Given the description of an element on the screen output the (x, y) to click on. 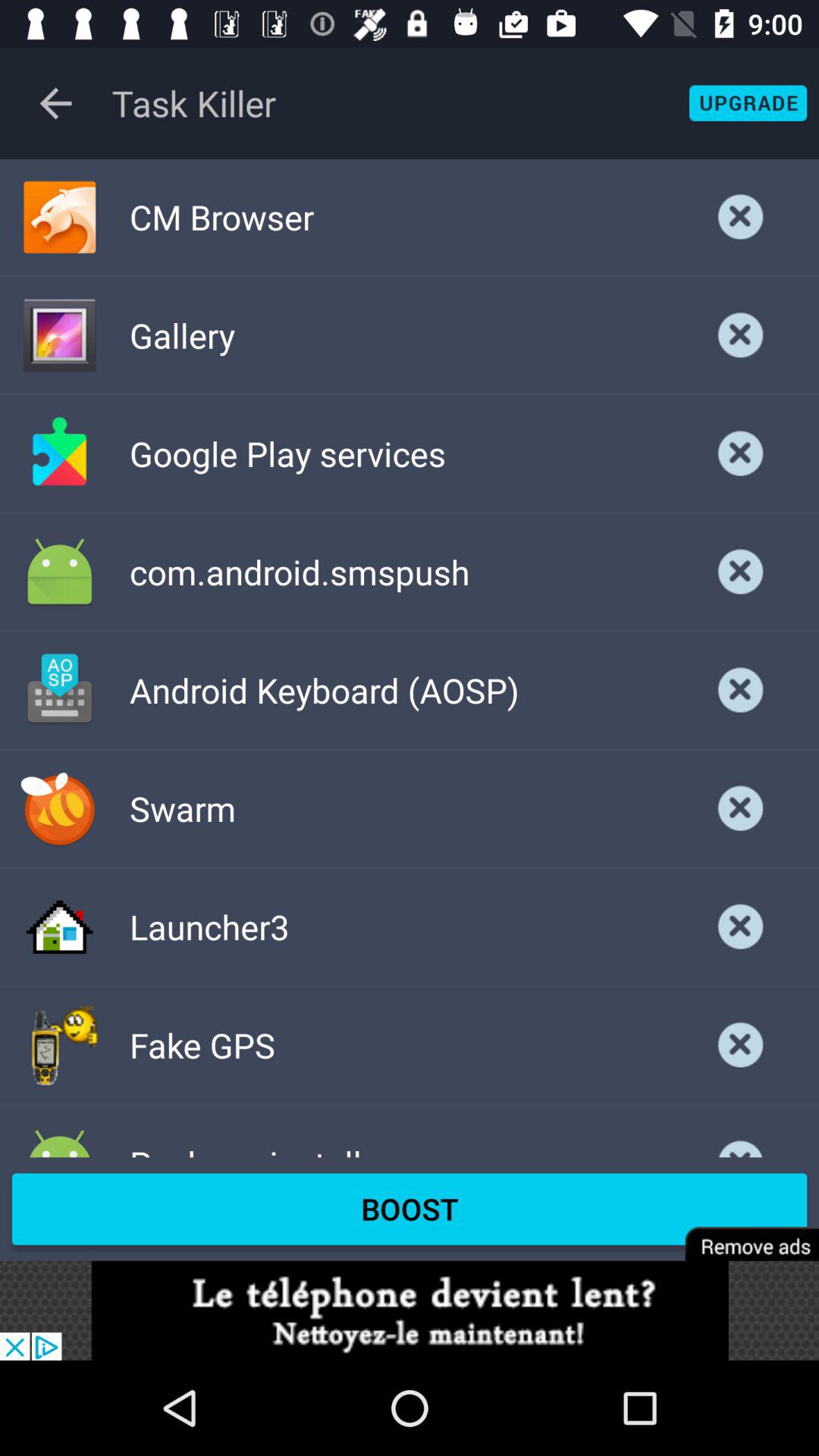
x out of this app (740, 453)
